Given the description of an element on the screen output the (x, y) to click on. 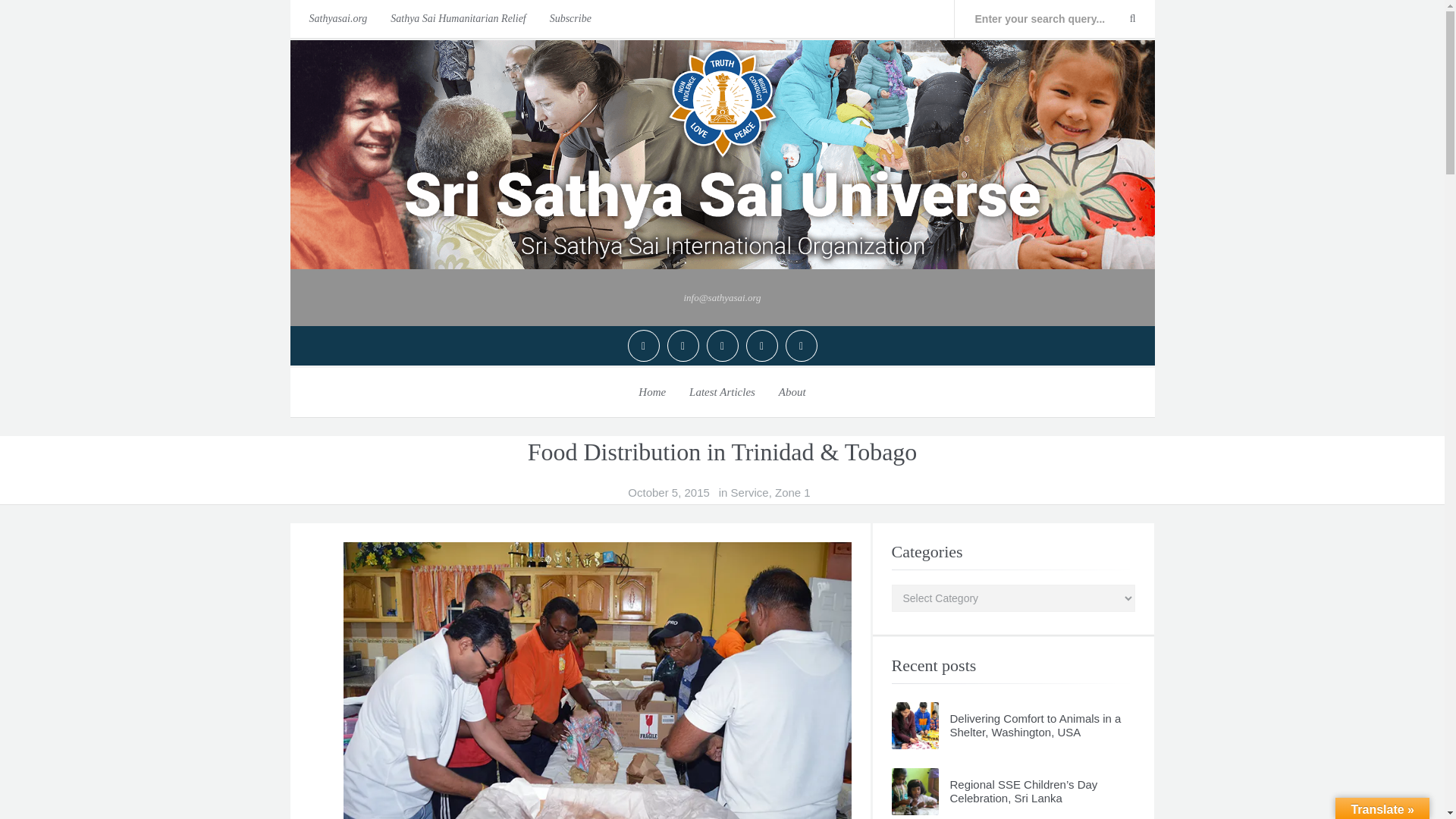
Service (749, 492)
Sathya Sai Humanitarian Relief (457, 18)
Subscribe to emails (570, 18)
Subscribe (570, 18)
Latest Articles (722, 391)
Sathyasai.org (333, 18)
Home (652, 391)
Zone 1 (792, 492)
About (791, 391)
